Given the description of an element on the screen output the (x, y) to click on. 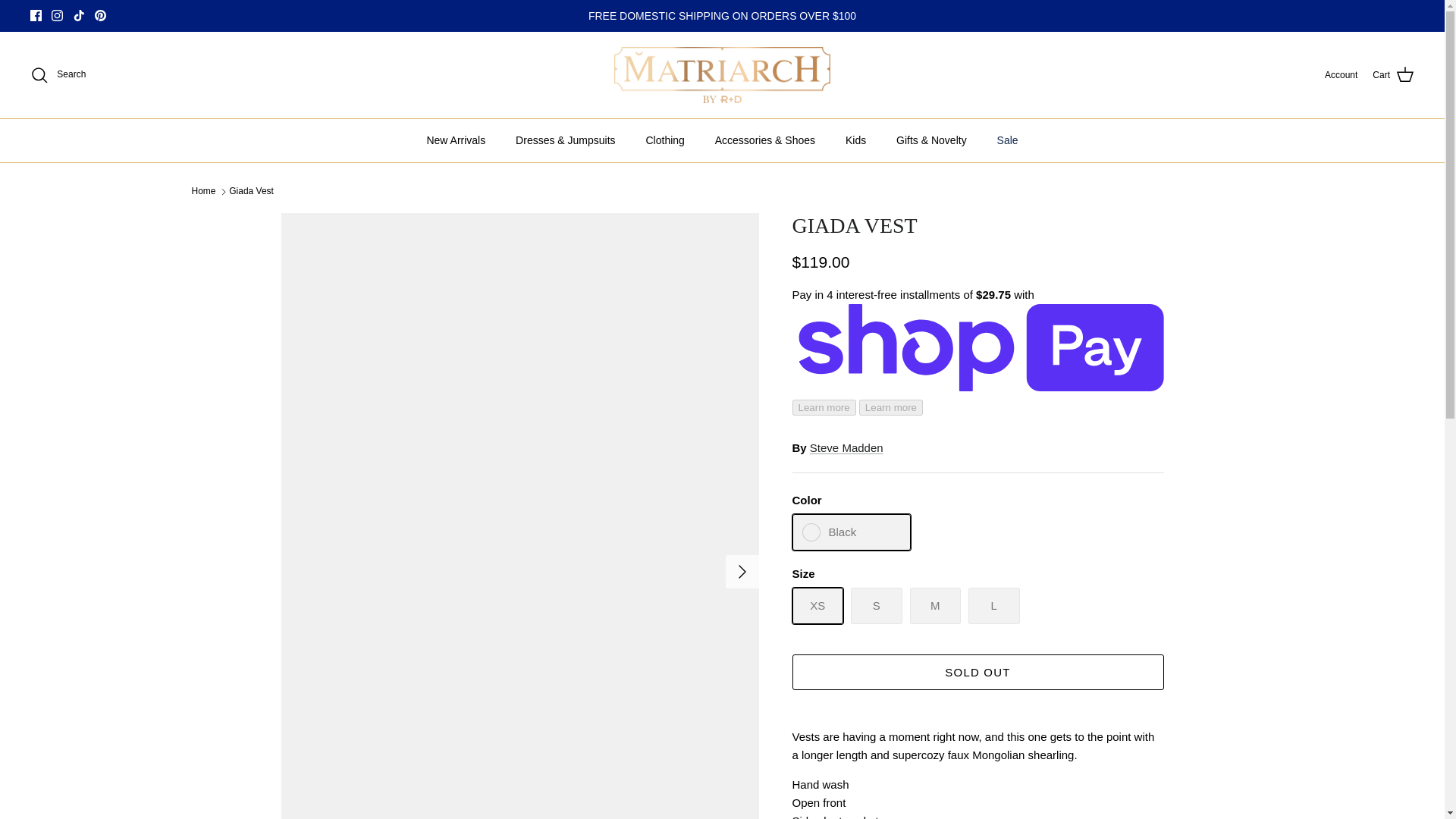
Facebook (36, 15)
Clothing (664, 140)
Cart (1393, 75)
Account (1340, 74)
Instagram (56, 15)
Facebook (36, 15)
Pinterest (100, 15)
RIGHT (741, 571)
New Arrivals (455, 140)
Instagram (56, 15)
